Given the description of an element on the screen output the (x, y) to click on. 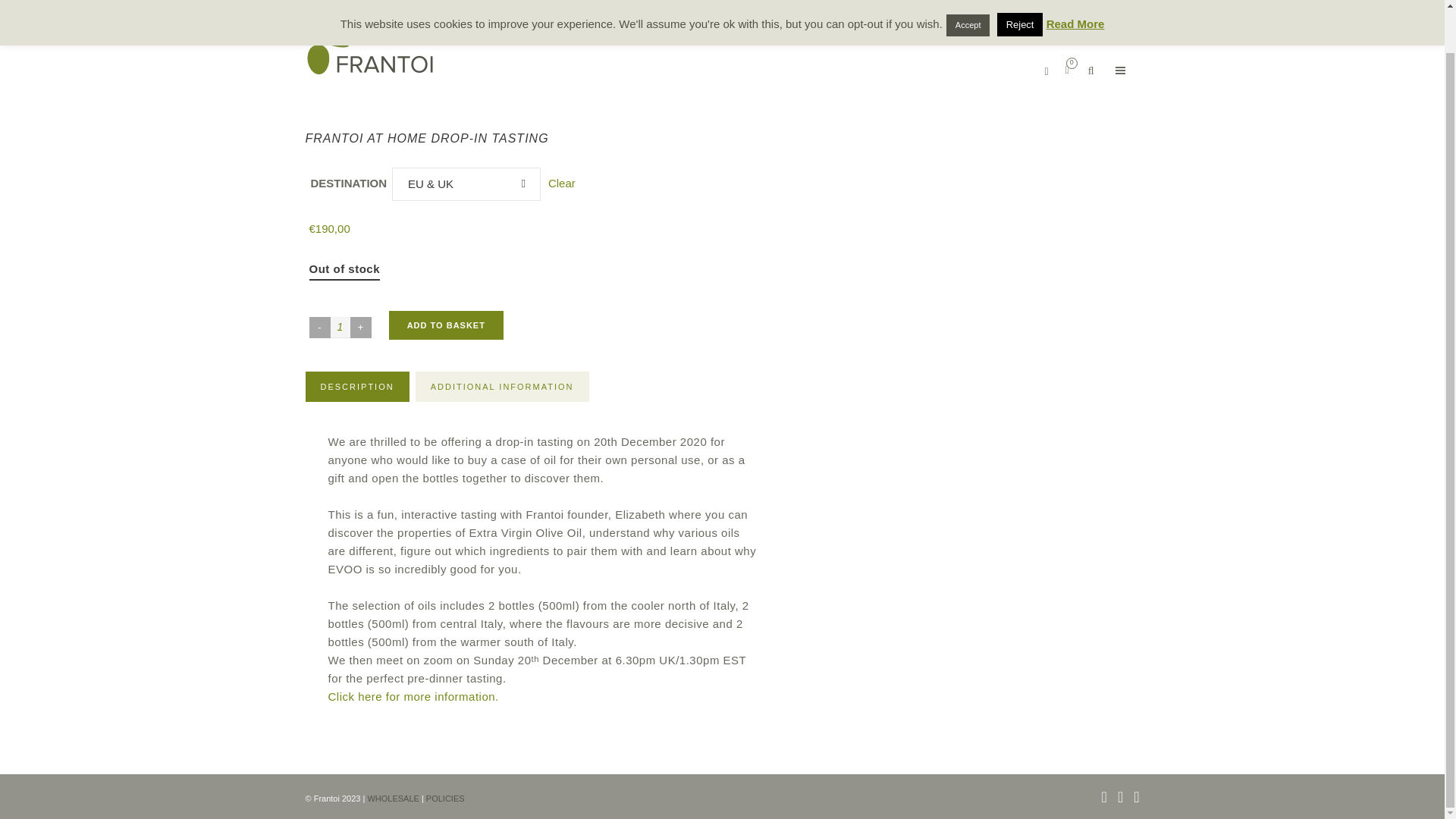
POLICIES (445, 752)
WHOLESALE (392, 752)
Click here for more information.  (414, 696)
ADDITIONAL INFORMATION (501, 386)
1 (340, 327)
ADD TO BASKET (445, 325)
Clear (557, 182)
DESCRIPTION (356, 386)
- (319, 327)
